Given the description of an element on the screen output the (x, y) to click on. 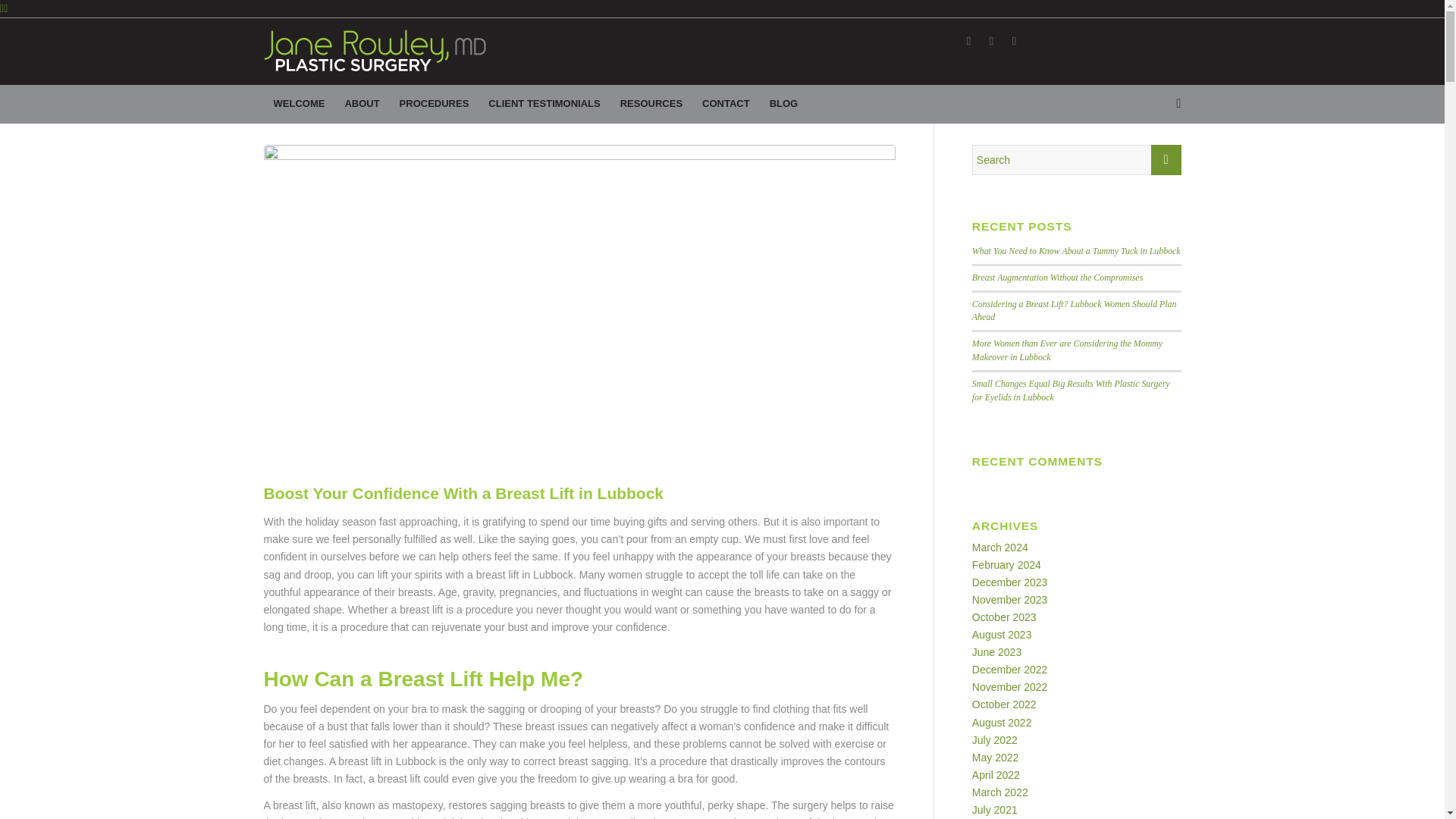
Youtube (1014, 40)
WELCOME (298, 103)
Twitter (991, 40)
Boost Your Confidence With a Breast Lift in Lubbock (463, 493)
CLIENT TESTIMONIALS (544, 103)
ABOUT (361, 103)
PROCEDURES (434, 103)
RESOURCES (651, 103)
CONTACT (726, 103)
Facebook (967, 40)
jr-plastic-surgery-logo (374, 50)
BLOG (784, 103)
